Given the description of an element on the screen output the (x, y) to click on. 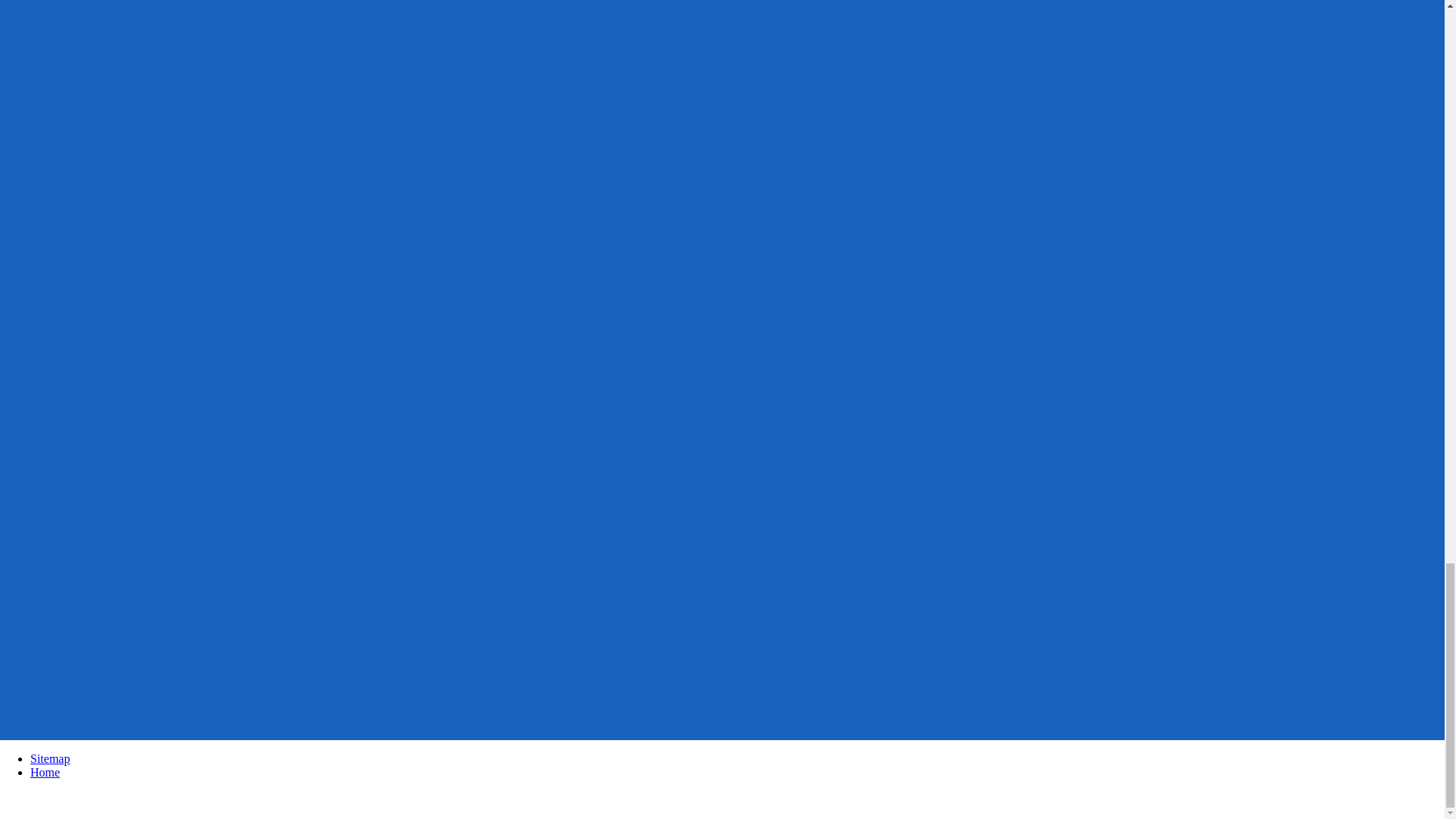
Sitemap (49, 758)
Home (44, 771)
